Given the description of an element on the screen output the (x, y) to click on. 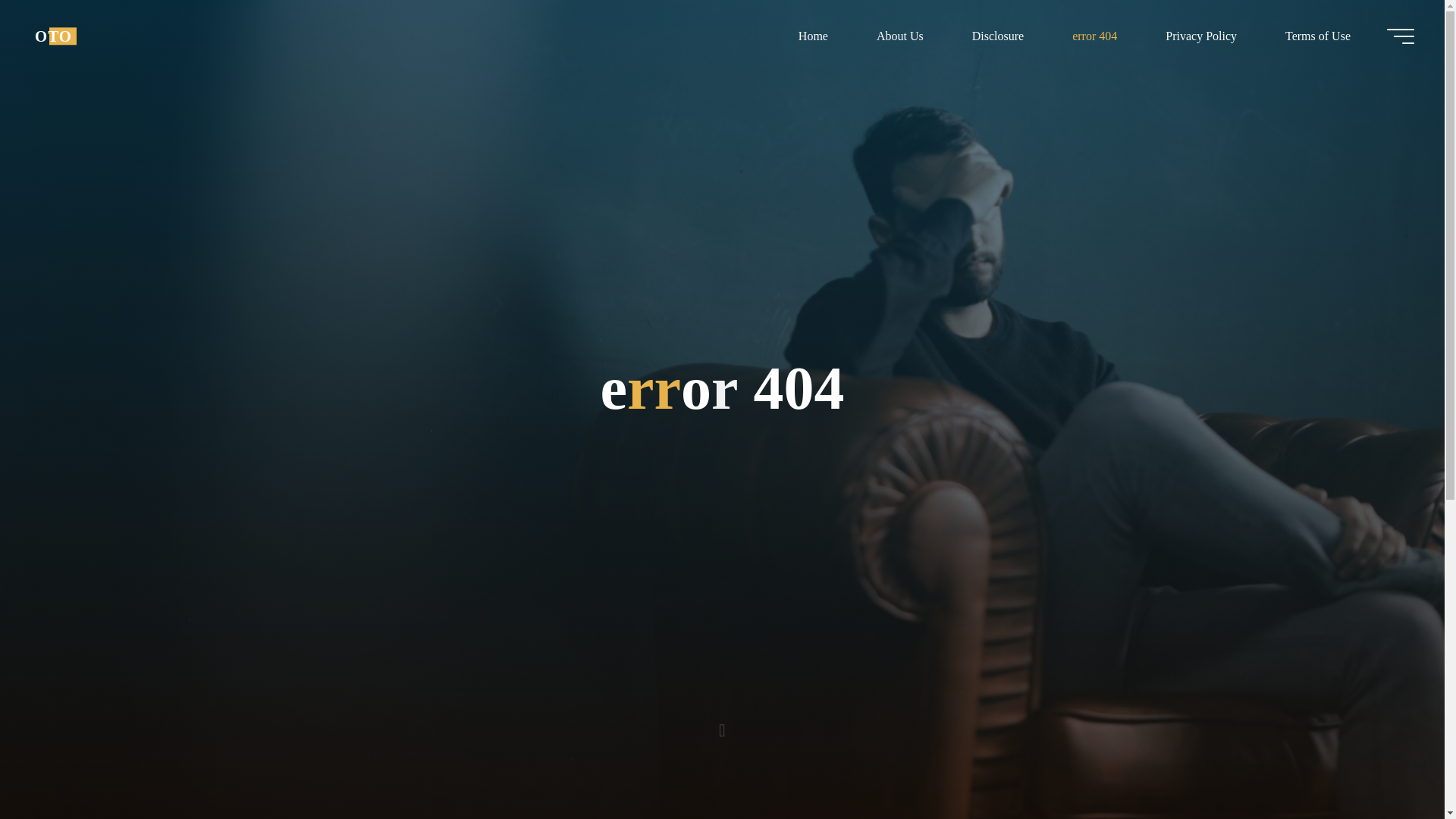
Read more (721, 724)
OTO (53, 36)
About Us (899, 35)
error 404 (1094, 35)
Terms of Use (1317, 35)
Home (812, 35)
Privacy Policy (1200, 35)
Disclosure (997, 35)
